Given the description of an element on the screen output the (x, y) to click on. 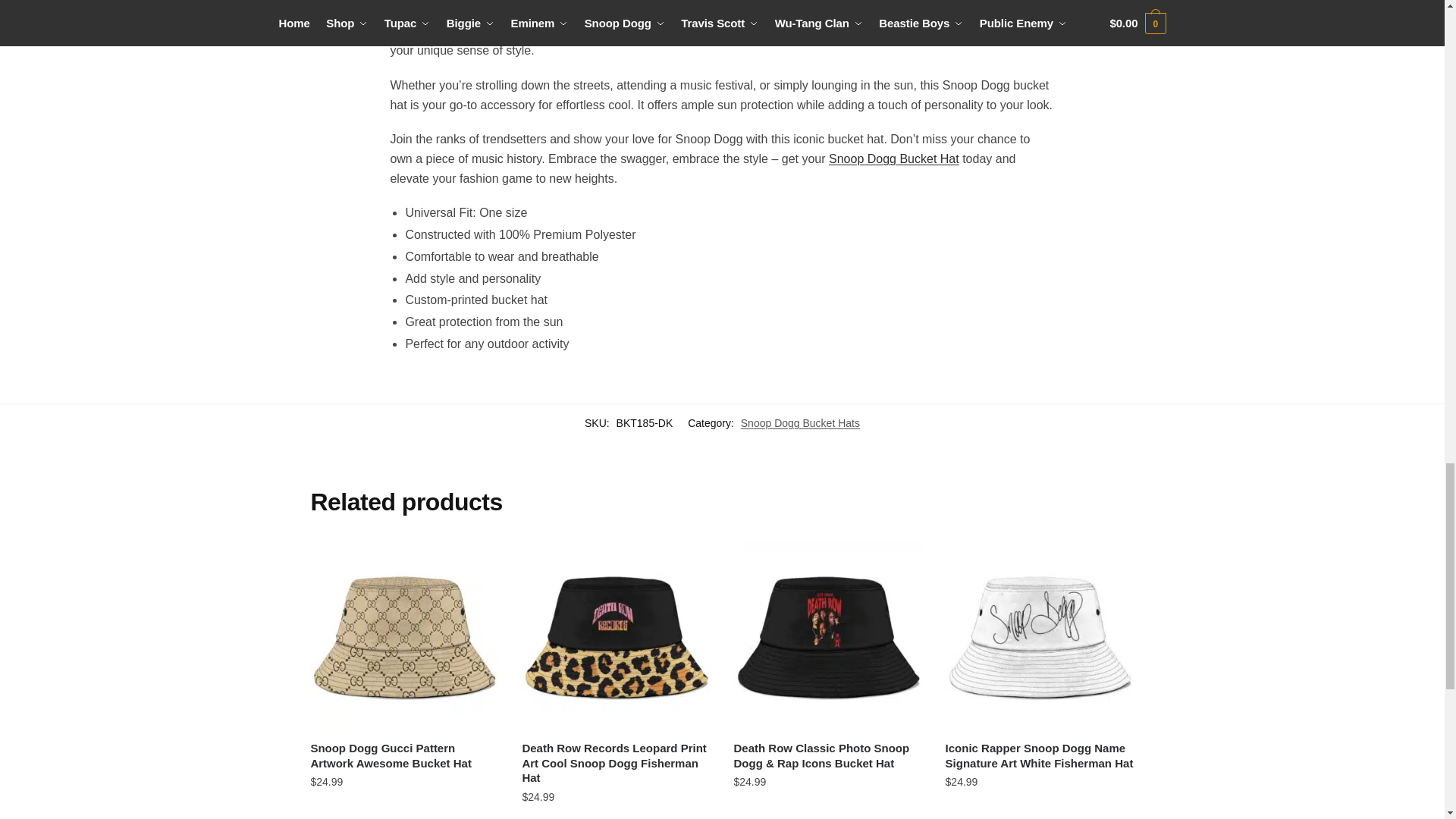
Snoop Dogg Gucci Pattern Artwork Awesome Bucket Hat (404, 635)
